Given the description of an element on the screen output the (x, y) to click on. 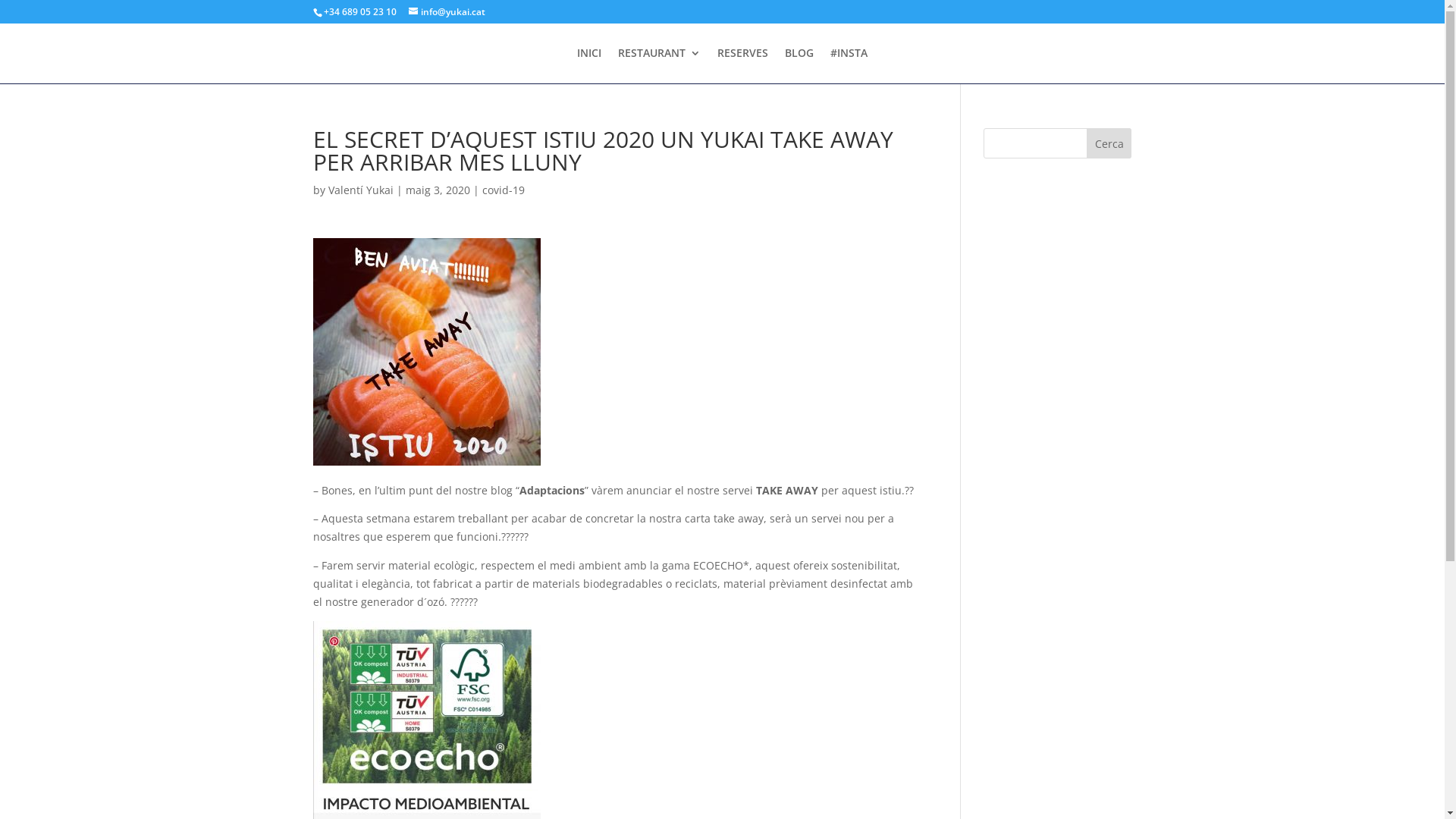
#INSTA Element type: text (848, 65)
covid-19 Element type: text (503, 189)
BLOG Element type: text (798, 65)
INICI Element type: text (589, 65)
RESERVES Element type: text (742, 65)
info@yukai.cat Element type: text (445, 11)
Cerca Element type: text (1109, 143)
RESTAURANT Element type: text (659, 65)
